Given the description of an element on the screen output the (x, y) to click on. 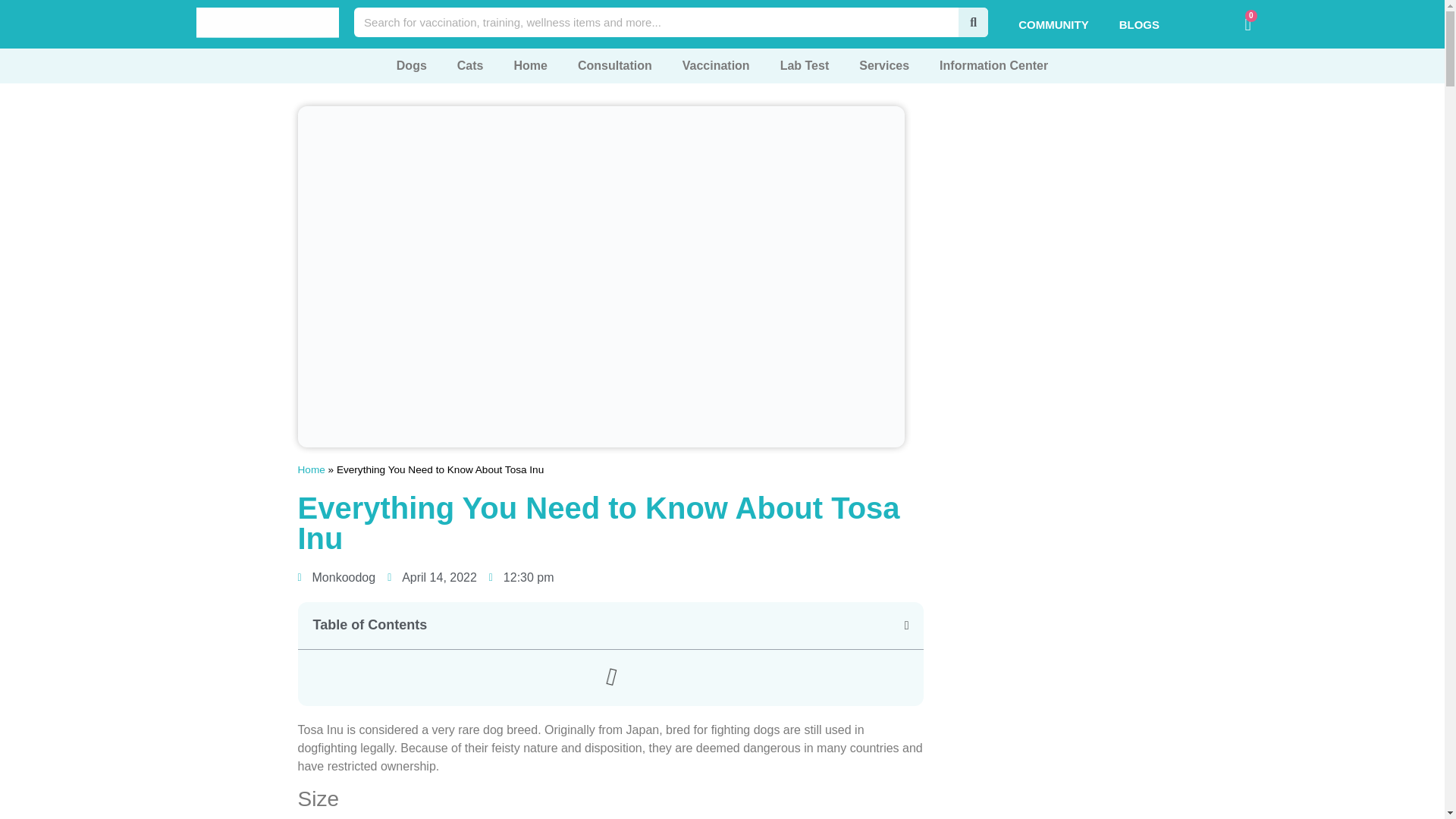
COMMUNITY (1053, 24)
BLOGS (1138, 24)
Best Veterinary Service in India (267, 22)
